Given the description of an element on the screen output the (x, y) to click on. 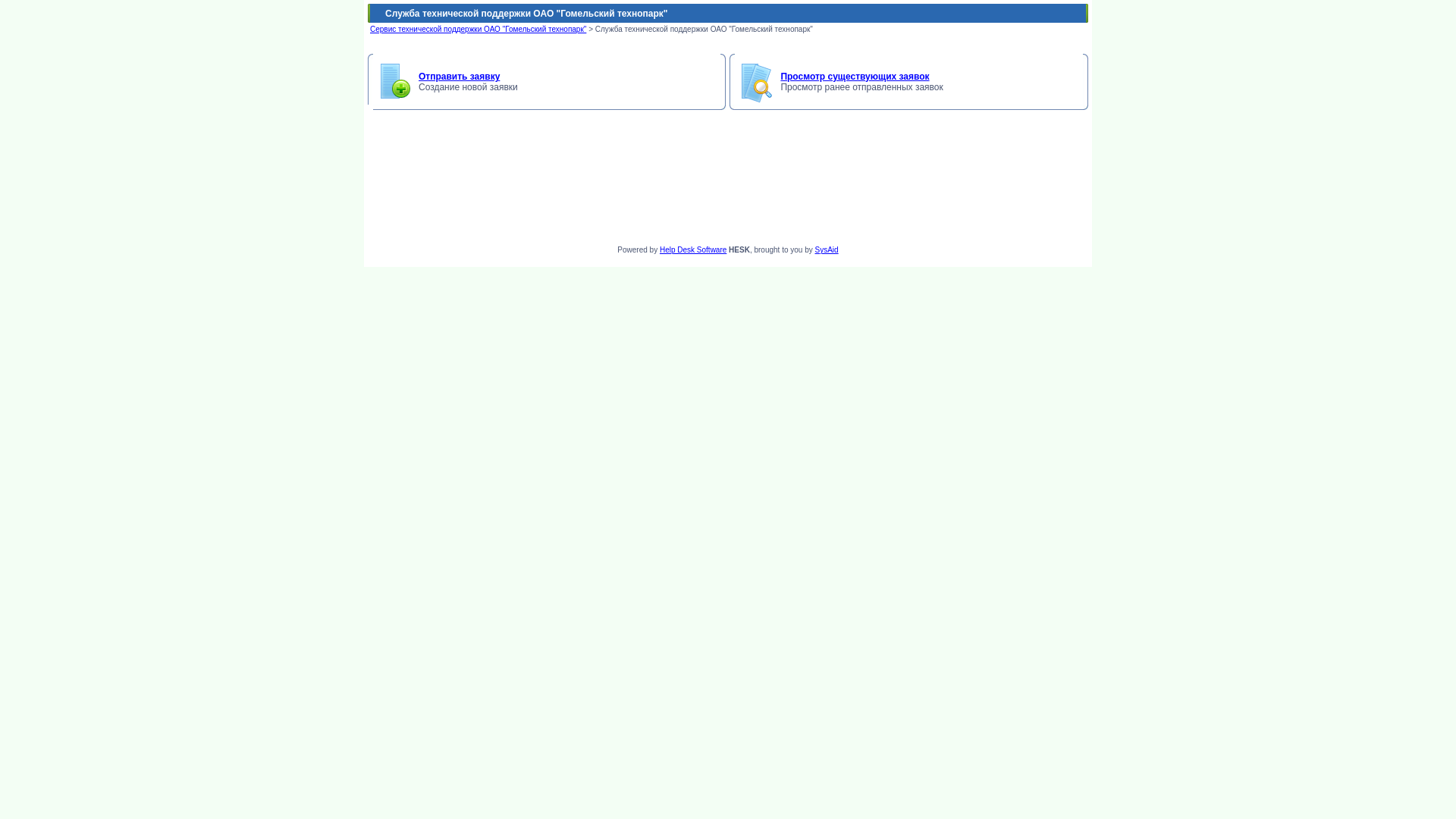
SysAid Element type: text (826, 249)
Help Desk Software Element type: text (692, 249)
